Given the description of an element on the screen output the (x, y) to click on. 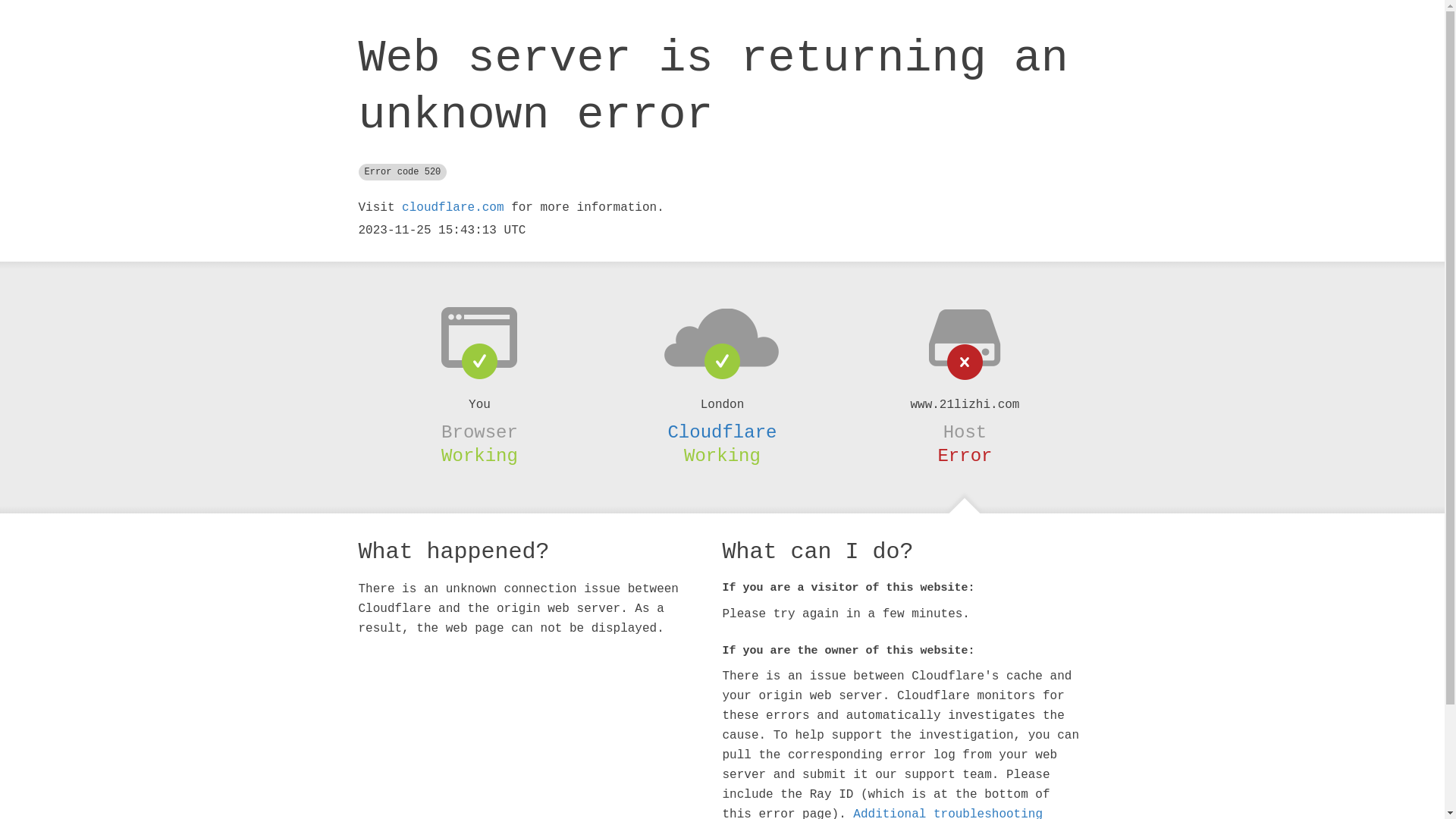
Cloudflare Element type: text (721, 432)
cloudflare.com Element type: text (452, 207)
